Given the description of an element on the screen output the (x, y) to click on. 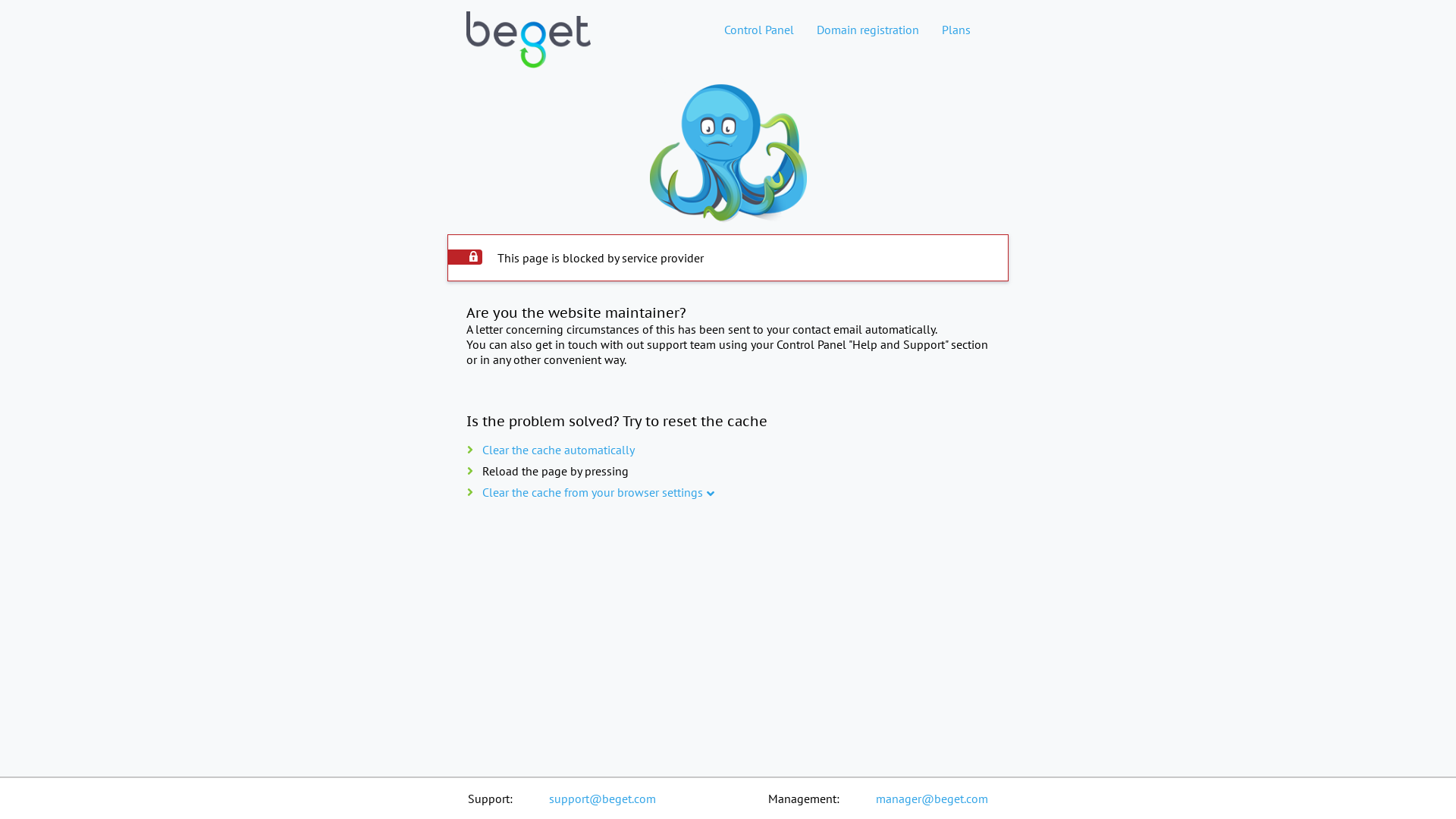
Domain registration Element type: text (867, 29)
Clear the cache automatically Element type: text (558, 449)
support@beget.com Element type: text (602, 798)
Web hosting home page Element type: hover (528, 51)
Clear the cache from your browser settings Element type: text (592, 491)
manager@beget.com Element type: text (931, 798)
Plans Element type: text (956, 29)
Control Panel Element type: text (758, 29)
